Given the description of an element on the screen output the (x, y) to click on. 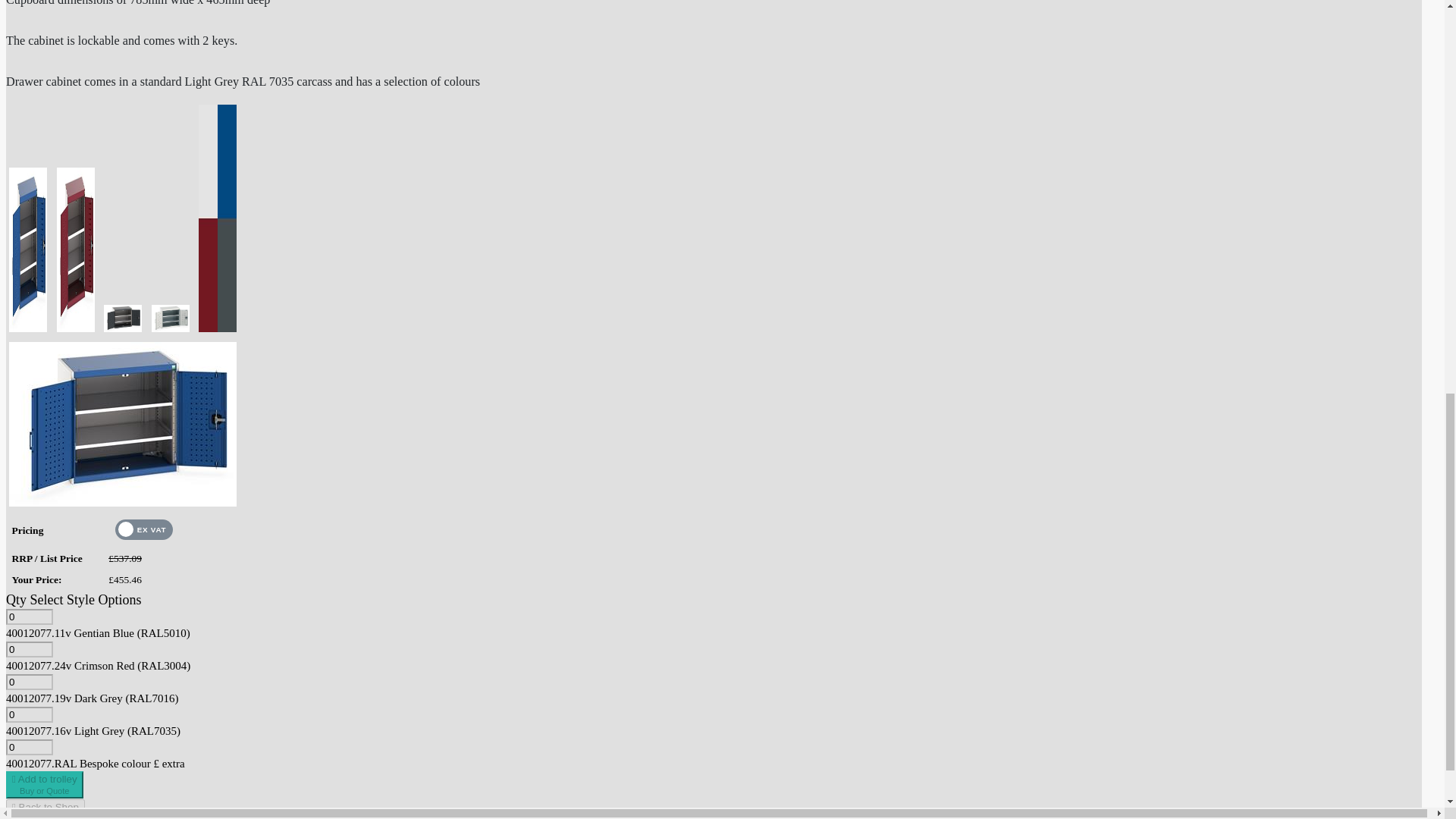
0 (28, 747)
0 (28, 649)
0 (28, 616)
0 (43, 784)
0 (28, 714)
Back (28, 682)
 Back to Shop (44, 806)
